Given the description of an element on the screen output the (x, y) to click on. 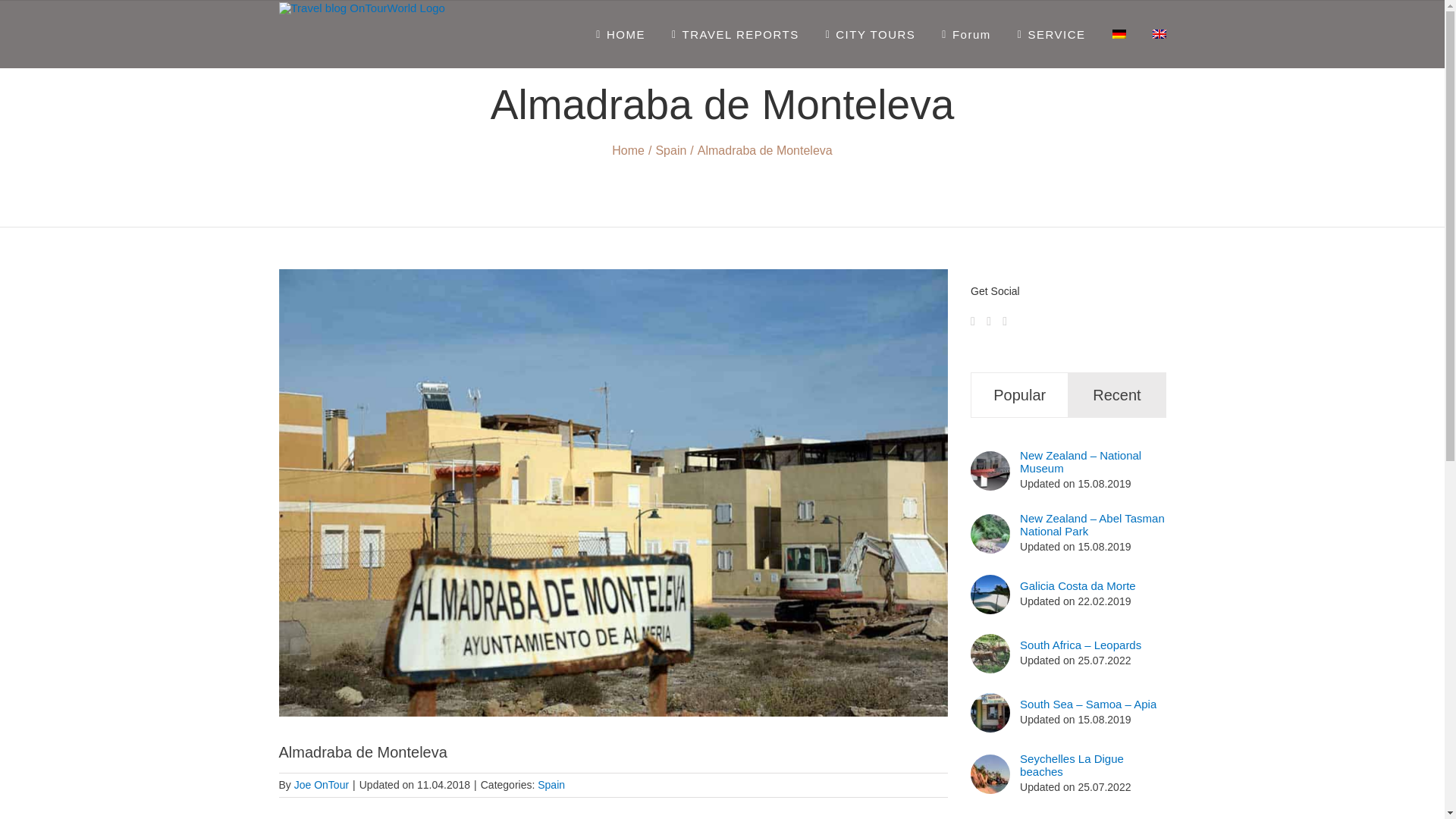
New Zealand - Abel Tasman National Park 3 (990, 533)
TRAVEL REPORTS (735, 33)
Seychelles La Digue beaches 7 (990, 773)
Galicia Costa da Morte 4 (990, 594)
South Sea - Samoa - Apia 6 (990, 712)
Posts by Joe OnTour (321, 784)
New Zealand - National Museum 2 (990, 470)
South Africa - Leopards 5 (990, 653)
